Given the description of an element on the screen output the (x, y) to click on. 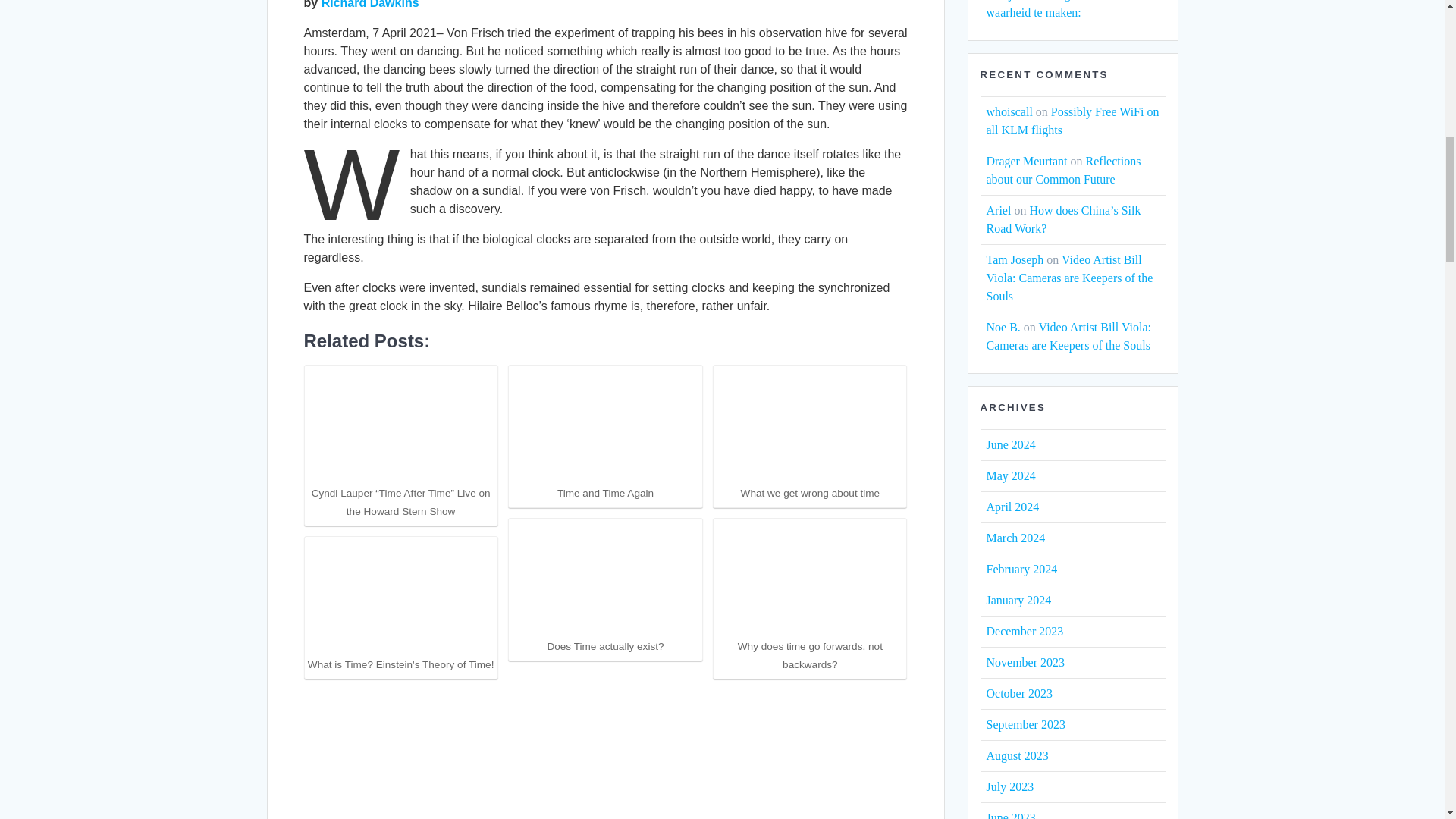
Time and Time Again (604, 434)
What is Time? Einstein's Theory of Time! (400, 605)
Why does time go forwards, not backwards? (810, 596)
What we get wrong about time (810, 434)
Does Time actually exist? (604, 587)
Richard Dawkins (370, 4)
